Given the description of an element on the screen output the (x, y) to click on. 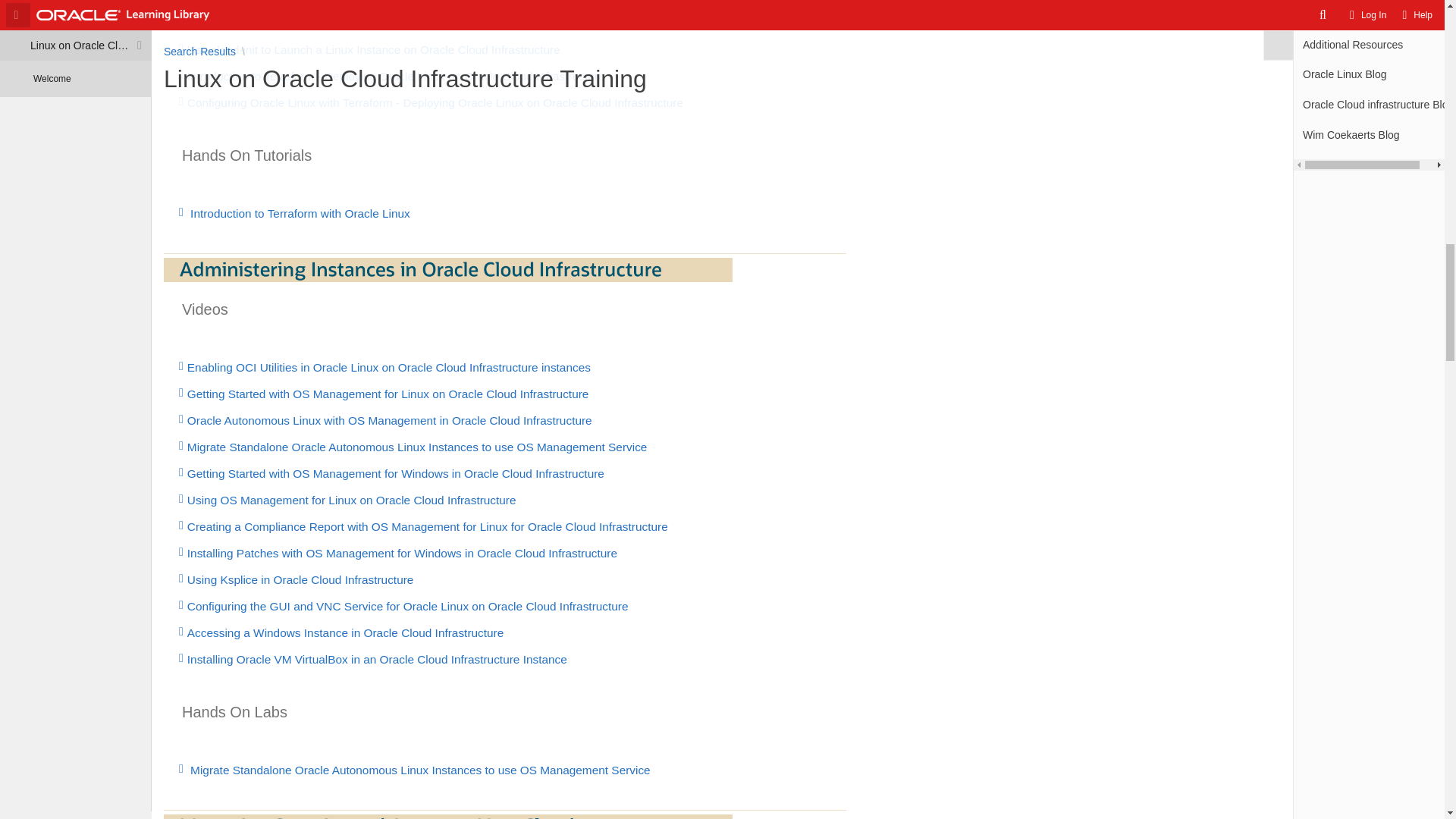
Accessing a Windows Instance in Oracle Cloud Infrastructure (722, 633)
Using OS Management for Linux on Oracle Cloud Infrastructure (722, 500)
Using Ksplice in Oracle Cloud Infrastructure (722, 579)
Introduction to Terraform with Oracle Linux (722, 213)
